Given the description of an element on the screen output the (x, y) to click on. 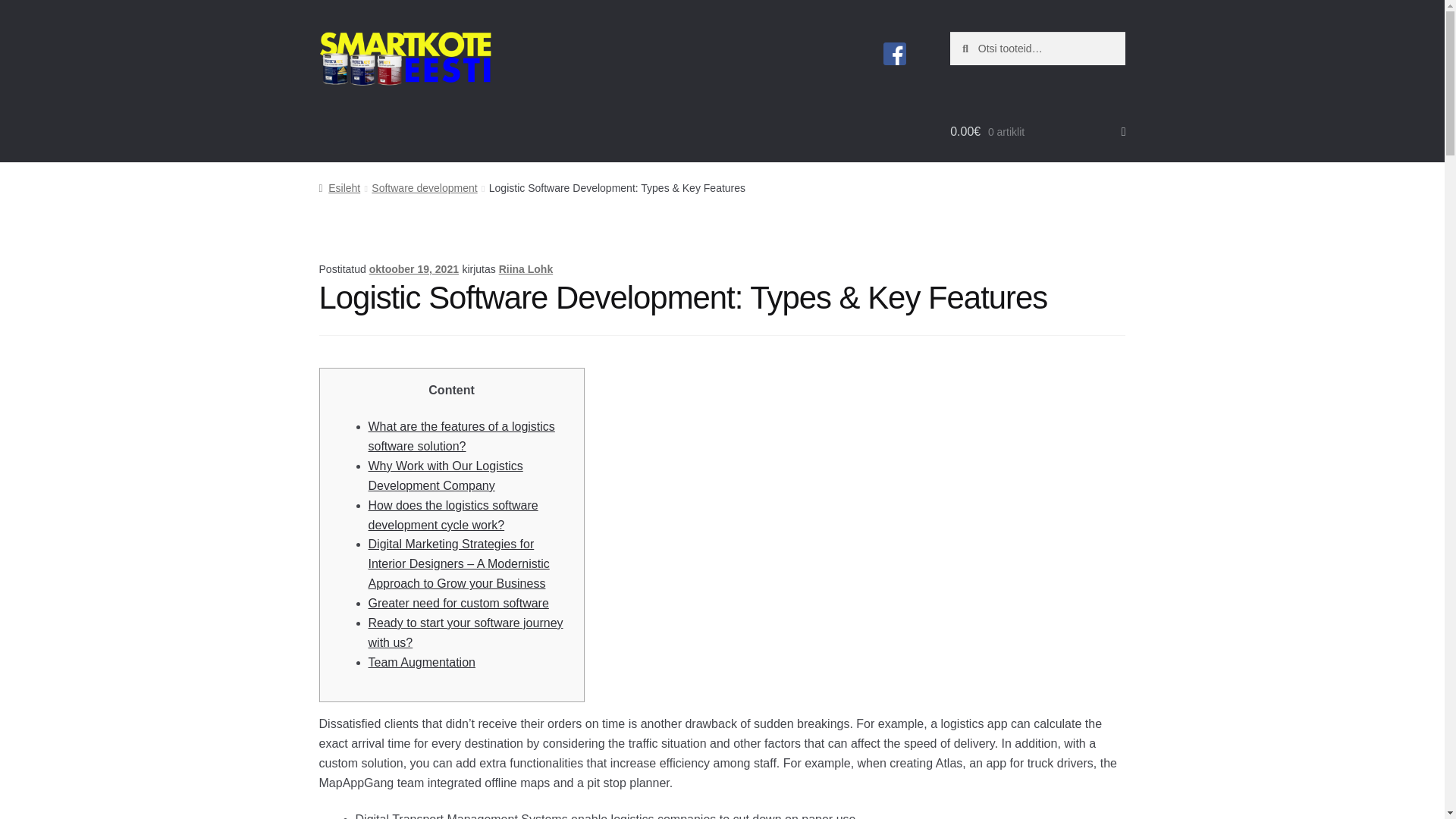
Vaata ostukorvi (1037, 132)
